Given the description of an element on the screen output the (x, y) to click on. 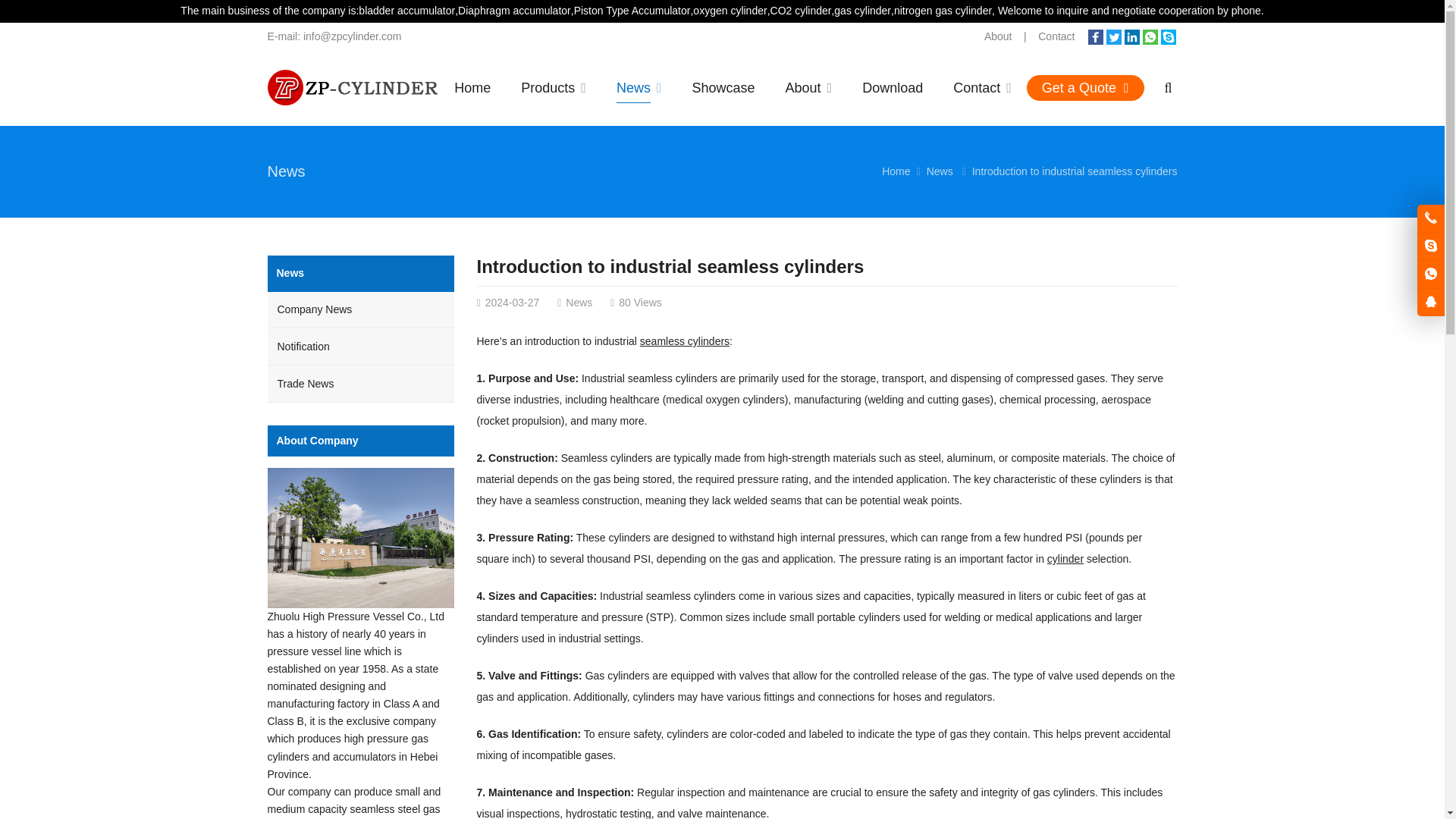
oxygen cylinder (730, 10)
oxygen cylinder (730, 10)
Piston Type Accumulator (631, 10)
nitrogen gas cylinder (942, 10)
bladder accumulator (406, 10)
Piston Type Accumulator (631, 10)
bladder accumulator (406, 10)
Twitter (1112, 37)
WhatsApp (1149, 37)
CO2 cylinder (800, 10)
